Given the description of an element on the screen output the (x, y) to click on. 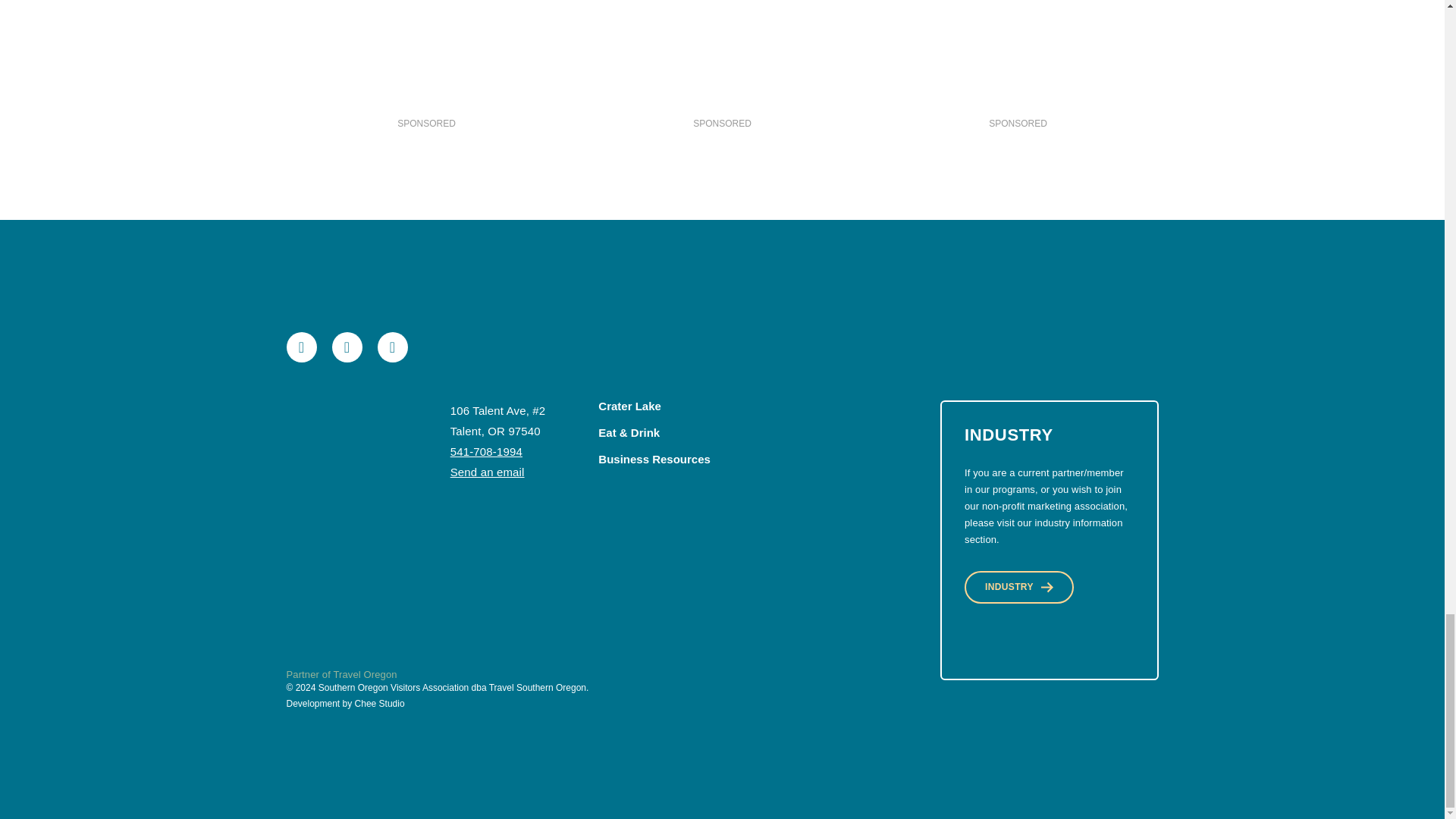
Go to Top of Page (341, 455)
Link to Twitter in new tab (346, 347)
Link to Instagram in new tab (392, 347)
Industry (1018, 586)
Link to Facebook in new tab (301, 347)
